Given the description of an element on the screen output the (x, y) to click on. 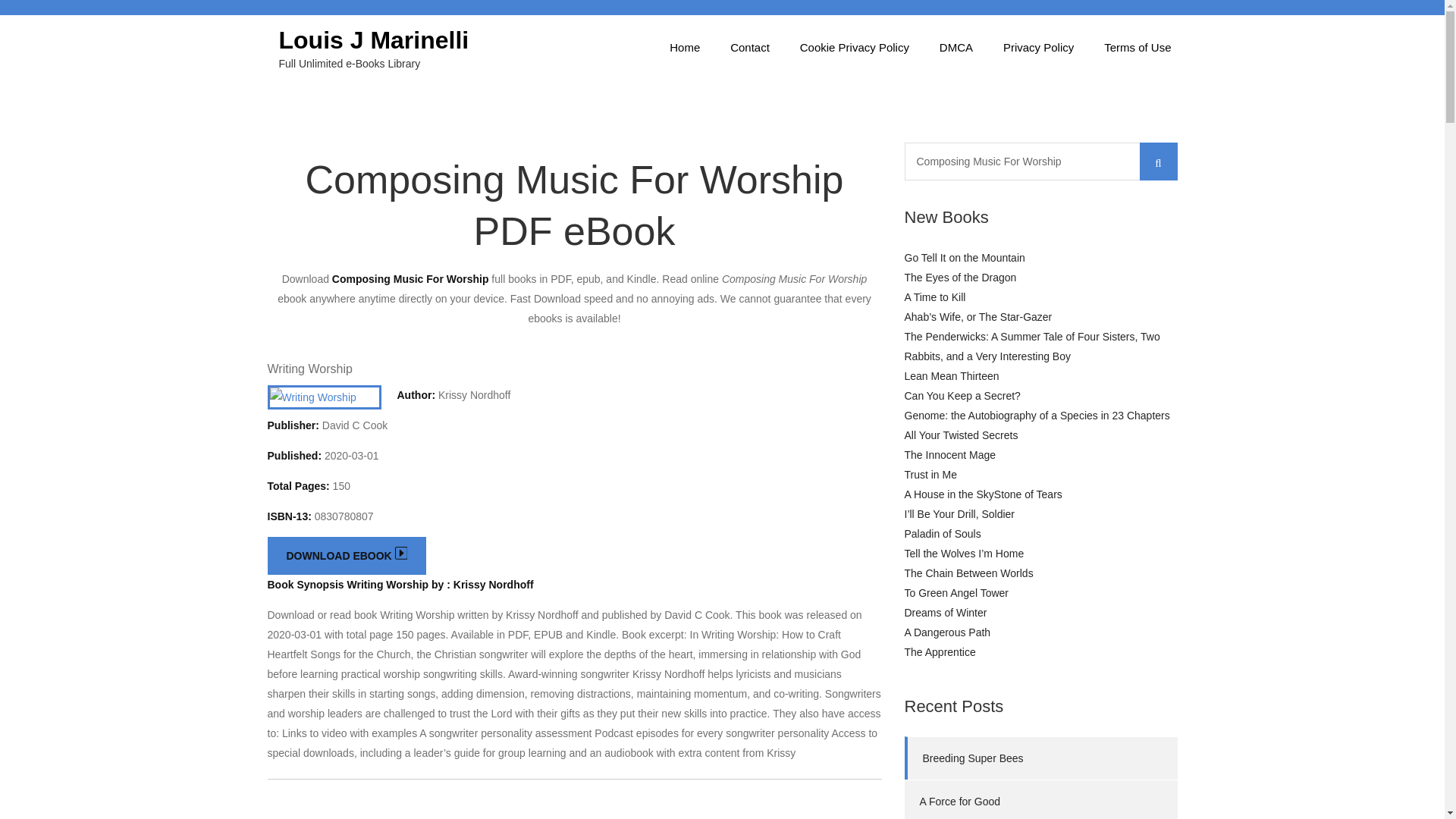
Writing Worship (309, 368)
Privacy Policy (1038, 47)
Composing Music For Worship (1040, 161)
Cookie Privacy Policy (854, 47)
Composing Music For Worship (1040, 161)
Search (1157, 161)
Search for: (1040, 161)
DMCA (956, 47)
Terms of Use (1137, 47)
DOWNLOAD EBOOK (346, 555)
